Given the description of an element on the screen output the (x, y) to click on. 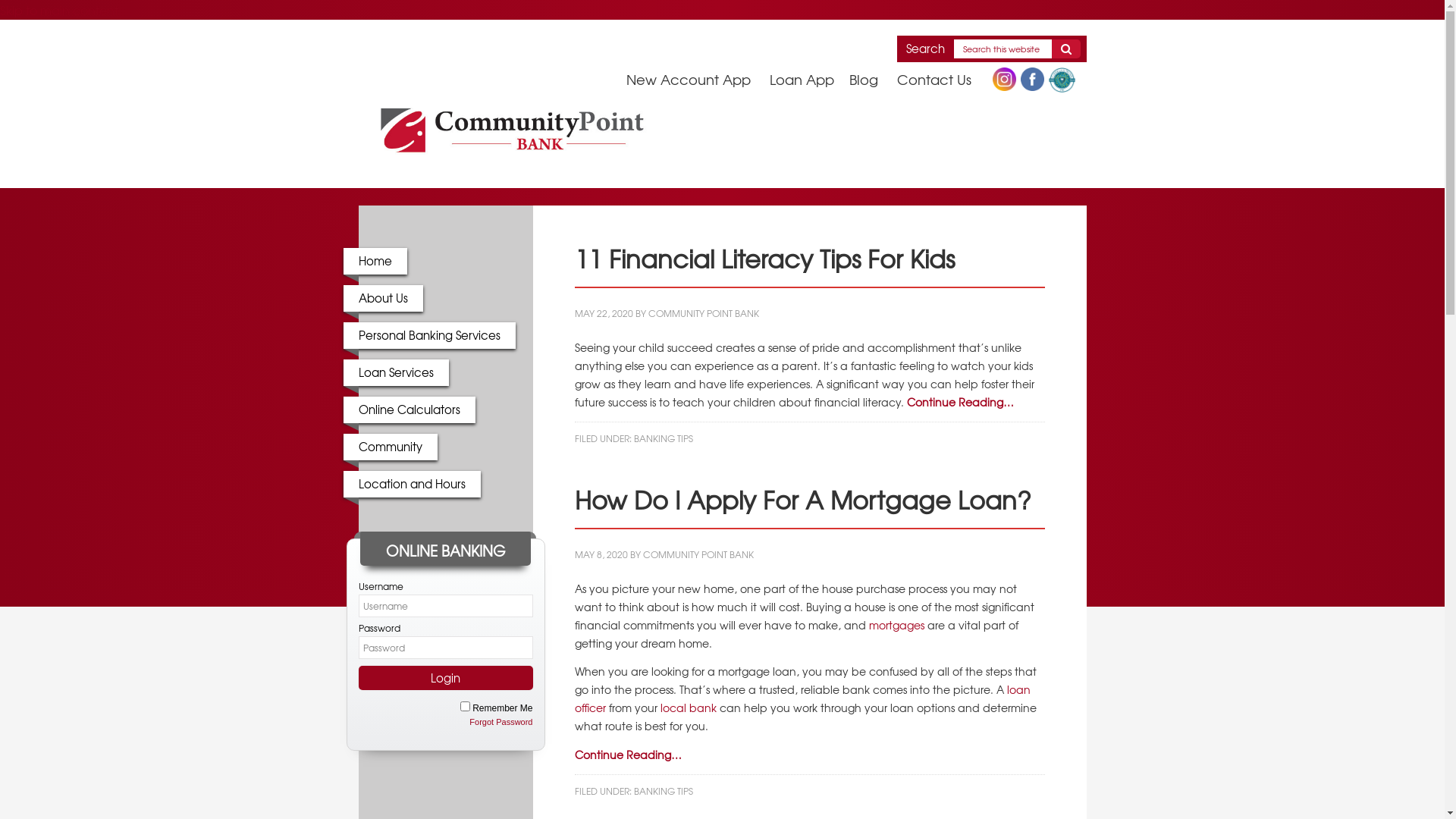
Blog Element type: text (871, 79)
Home Element type: text (374, 260)
Contact Us Element type: text (940, 79)
BANKING TIPS Element type: text (663, 790)
Forgot Password Element type: text (500, 721)
Loan App Element type: text (808, 79)
11 Financial Literacy Tips For Kids Element type: text (764, 258)
About Us Element type: text (382, 298)
Personal Banking Services Element type: text (428, 335)
New Account App Element type: text (695, 79)
COMMUNITY POINT BANK Element type: text (702, 313)
Community Element type: text (389, 446)
local bank Element type: text (687, 707)
loan officer Element type: text (802, 698)
Loan Services Element type: text (395, 372)
Location and Hours Element type: text (411, 483)
COMMUNITY POINT BANK Element type: text (698, 554)
BANKING TIPS Element type: text (663, 438)
How Do I Apply For A Mortgage Loan? Element type: text (802, 499)
Skip to main content Element type: text (59, 9)
mortgages Element type: text (896, 624)
Login Element type: text (444, 677)
Online Calculators Element type: text (408, 409)
